Given the description of an element on the screen output the (x, y) to click on. 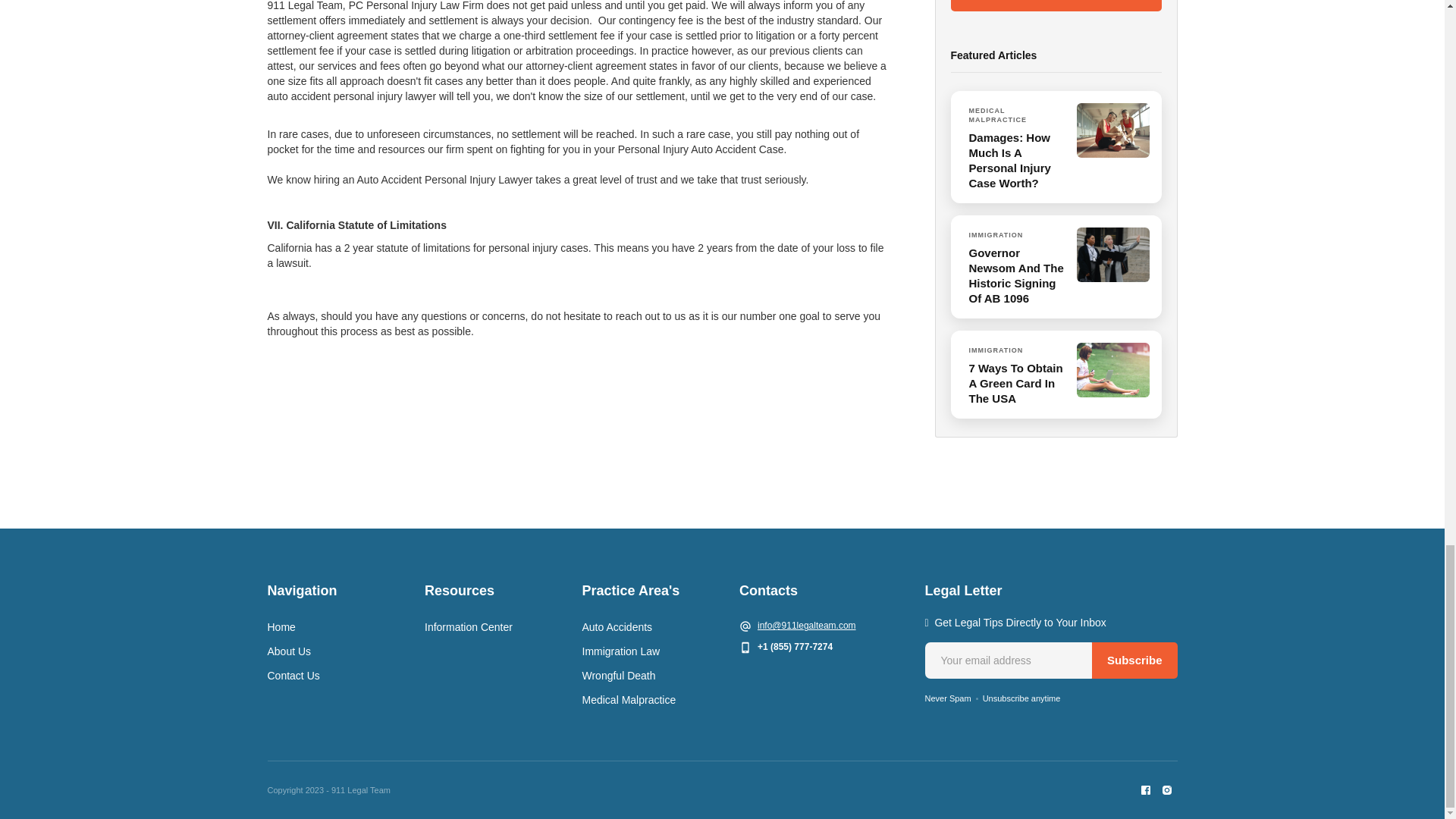
Medical Malpractice (629, 699)
Immigration Law (621, 651)
Subscribe (1134, 660)
Home (280, 627)
About Us (288, 651)
Contact Us (292, 675)
Auto Accidents (617, 627)
Information Center (468, 627)
Subscribe (1134, 660)
Wrongful Death (619, 675)
